Given the description of an element on the screen output the (x, y) to click on. 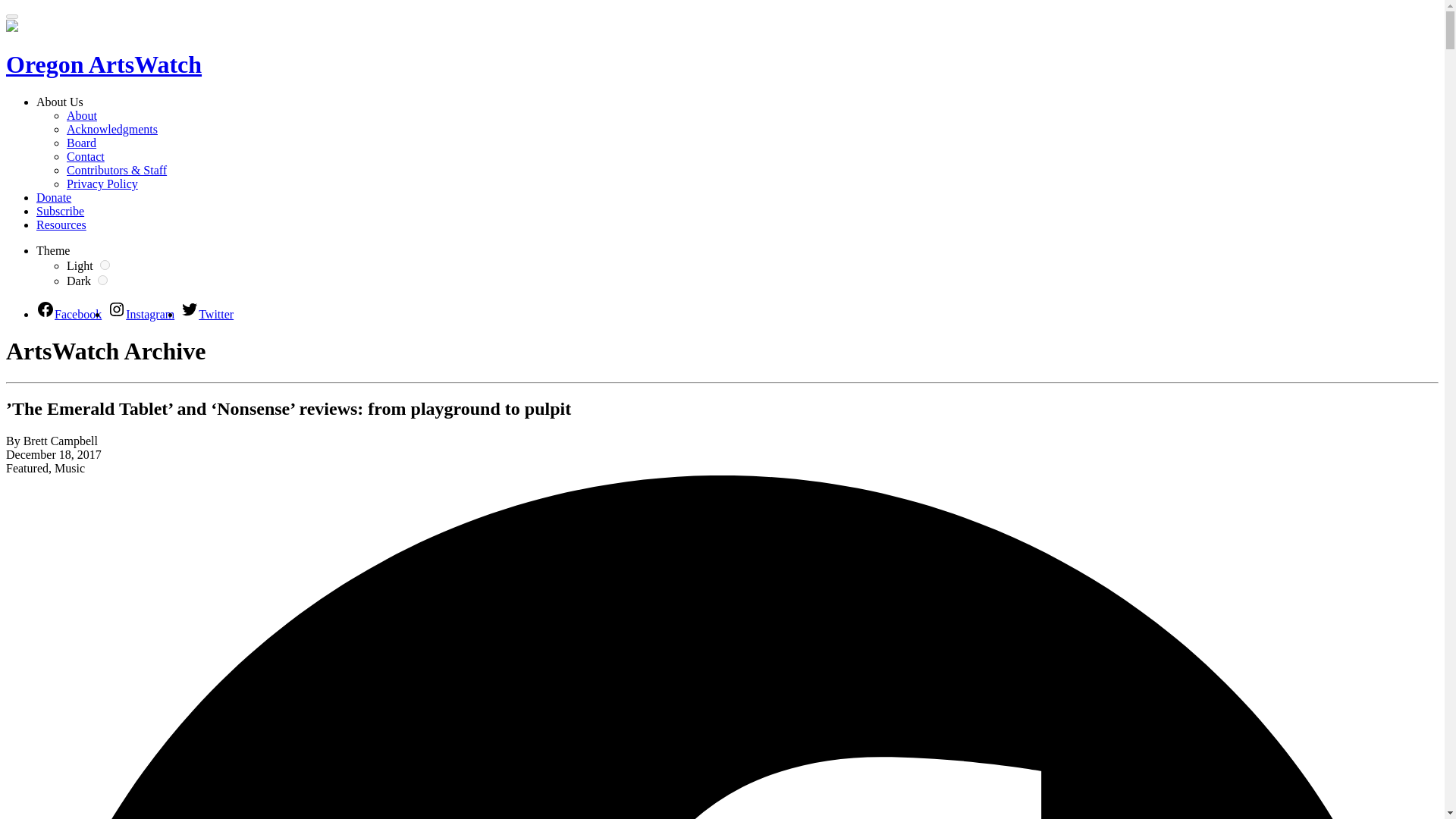
Board (81, 142)
light (105, 265)
Theme (52, 250)
About Us (59, 101)
Donate (53, 196)
About (81, 115)
Dark (88, 280)
Privacy Policy (102, 183)
Twitter (206, 314)
dark (102, 280)
Acknowledgments (111, 128)
Resources (60, 224)
Light (89, 265)
Facebook (68, 314)
Instagram (140, 314)
